Given the description of an element on the screen output the (x, y) to click on. 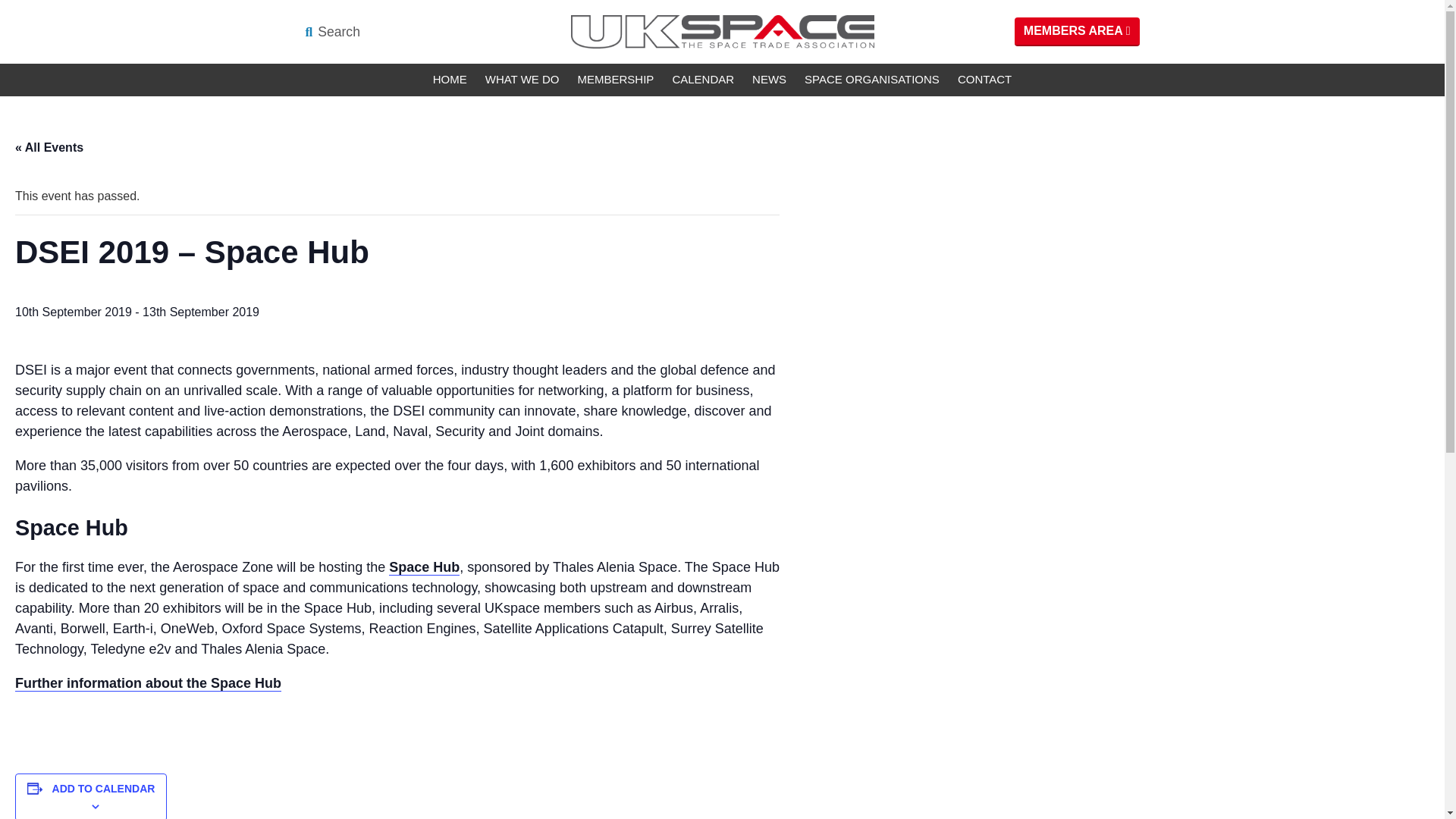
MEMBERS AREA (1077, 31)
CONTACT (984, 79)
MEMBERSHIP (616, 79)
CALENDAR (702, 79)
WHAT WE DO (522, 79)
NEWS (768, 79)
HOME (449, 79)
SPACE ORGANISATIONS (871, 79)
